Given the description of an element on the screen output the (x, y) to click on. 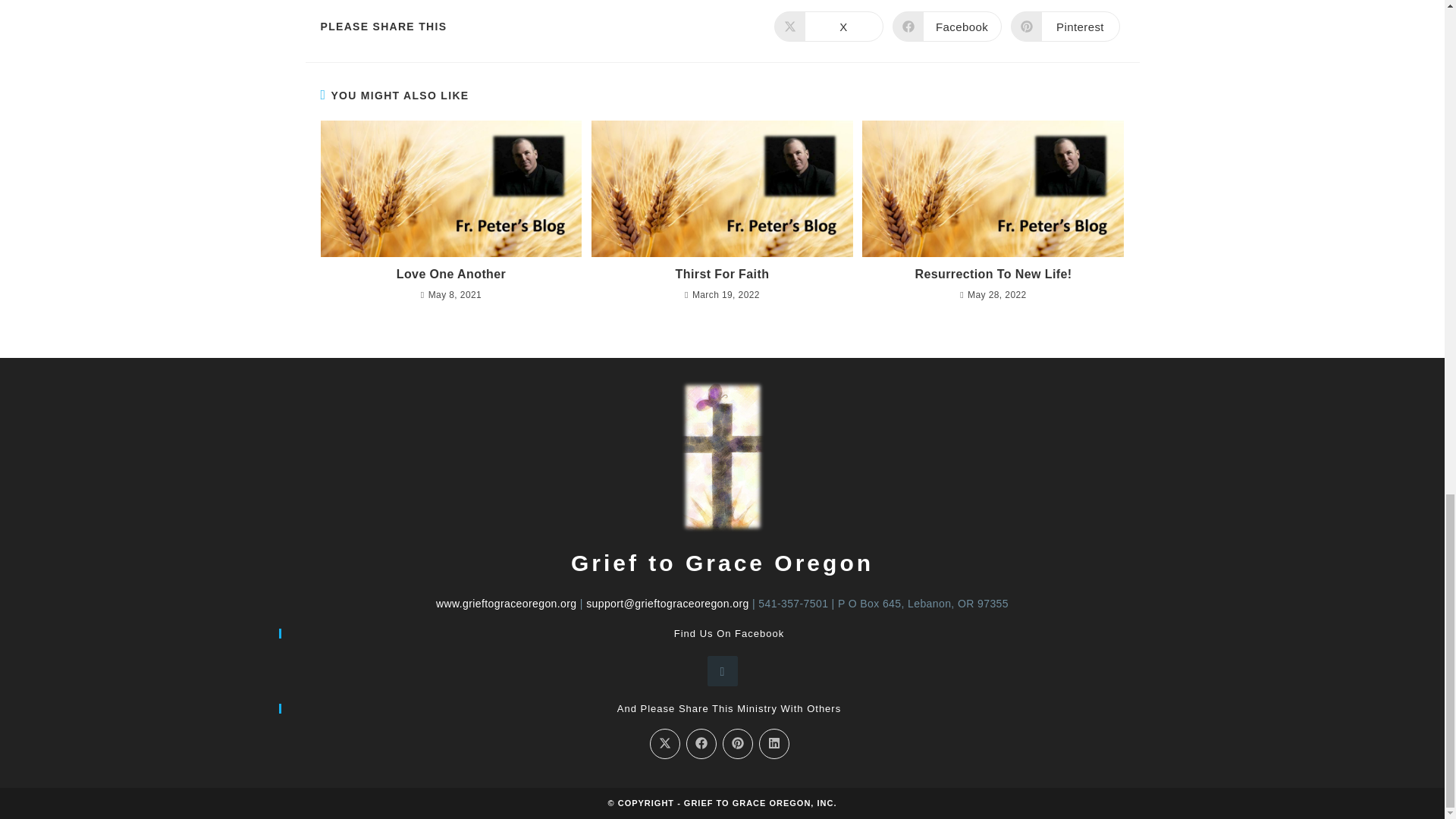
Share on X (664, 743)
Share on Facebook (700, 743)
Share on LinkedIn (773, 743)
Share on Pinterest (737, 743)
